Given the description of an element on the screen output the (x, y) to click on. 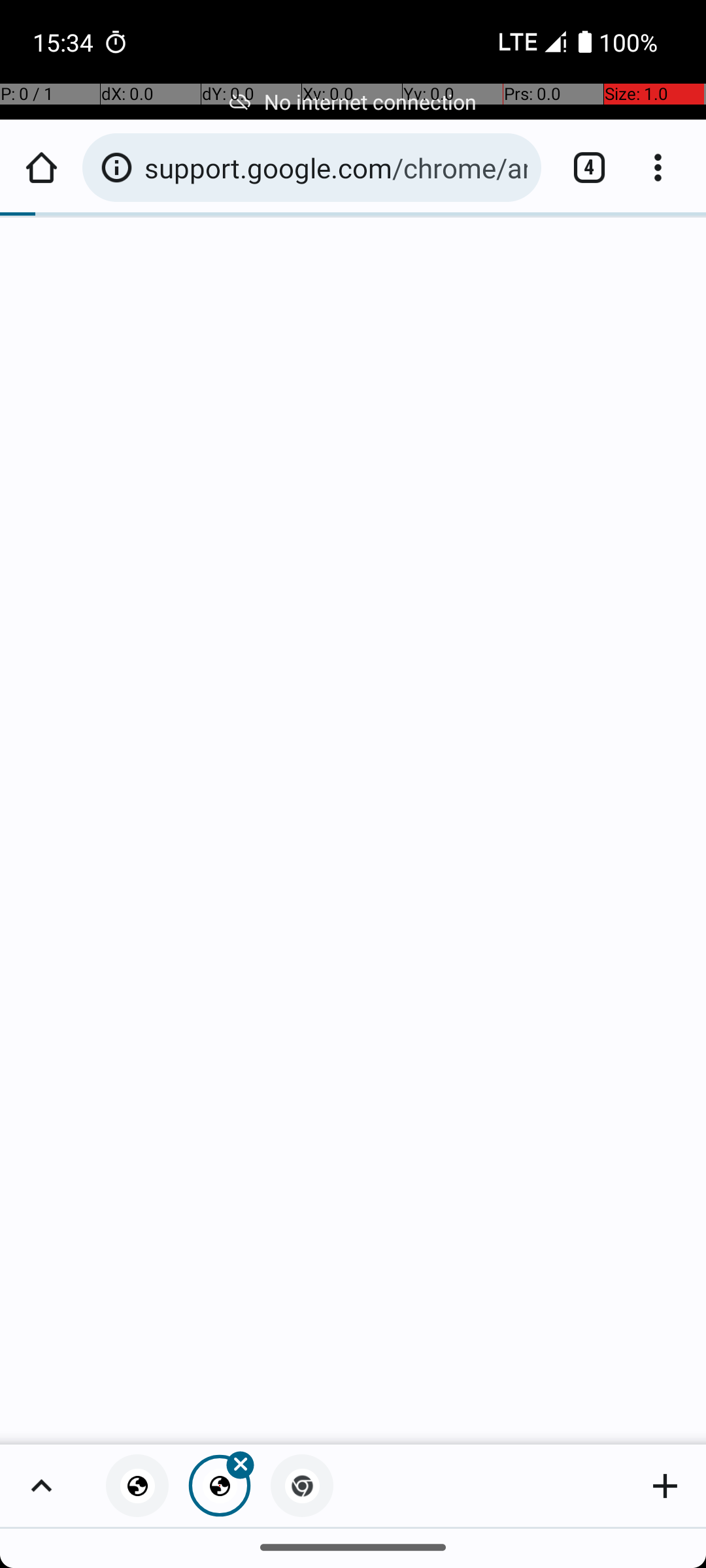
Show group's tabs in fullscreen grid Element type: android.widget.ImageView (41, 1485)
Add new tab to group Element type: android.widget.ImageView (664, 1485)
support.google.com/chrome/answer/6098869#-201 Element type: android.widget.EditText (335, 167)
Privacy error, tab Element type: android.widget.ImageButton (137, 1485)
Close  tab Element type: android.widget.ImageButton (219, 1485)
